Given the description of an element on the screen output the (x, y) to click on. 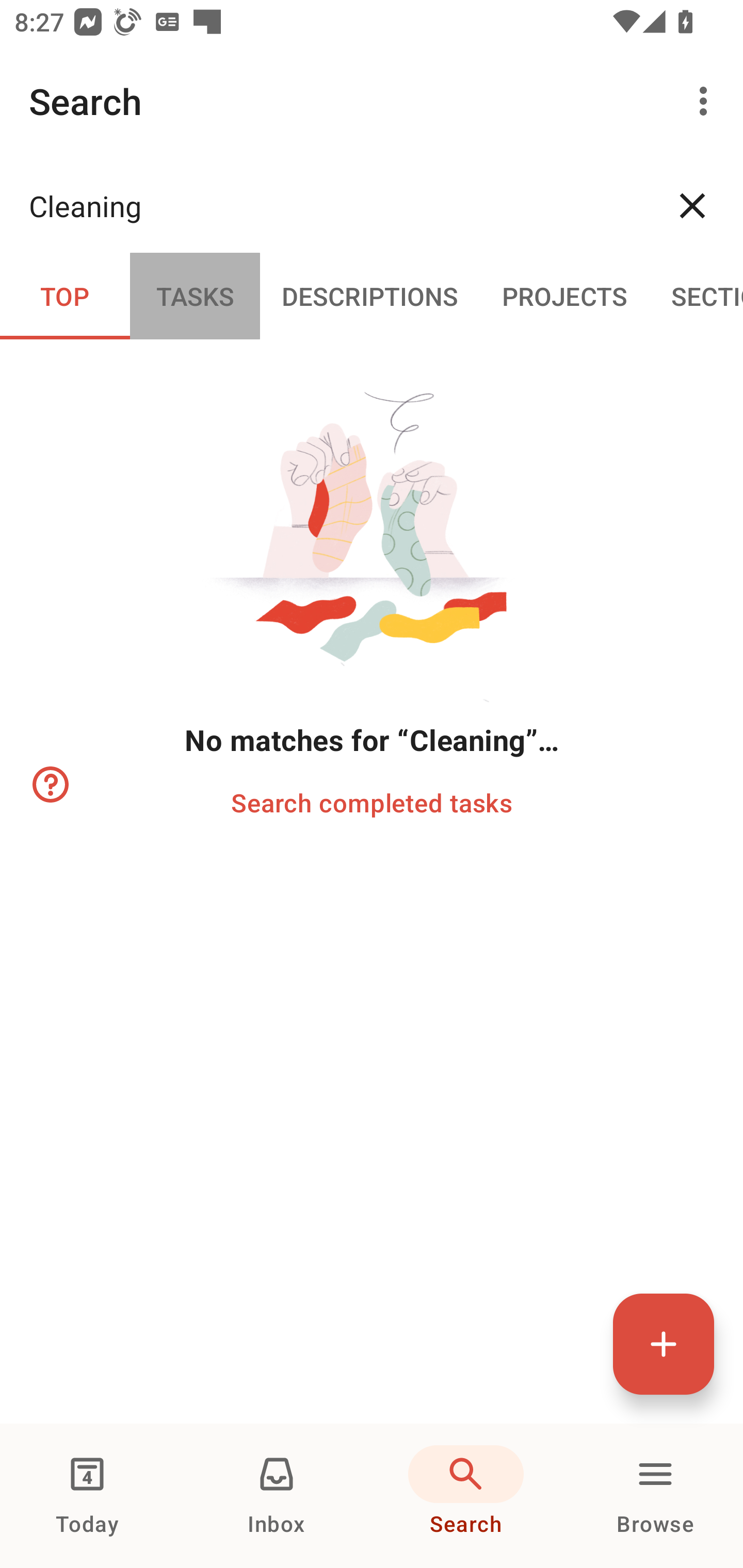
Search More options (371, 100)
More options (706, 101)
Cleaning (335, 205)
Clear (692, 205)
Tasks TASKS (195, 295)
Descriptions DESCRIPTIONS (370, 295)
Projects PROJECTS (564, 295)
Learn how to refine your search (48, 784)
Search completed tasks (371, 801)
Quick add (663, 1343)
Today (87, 1495)
Inbox (276, 1495)
Browse (655, 1495)
